Given the description of an element on the screen output the (x, y) to click on. 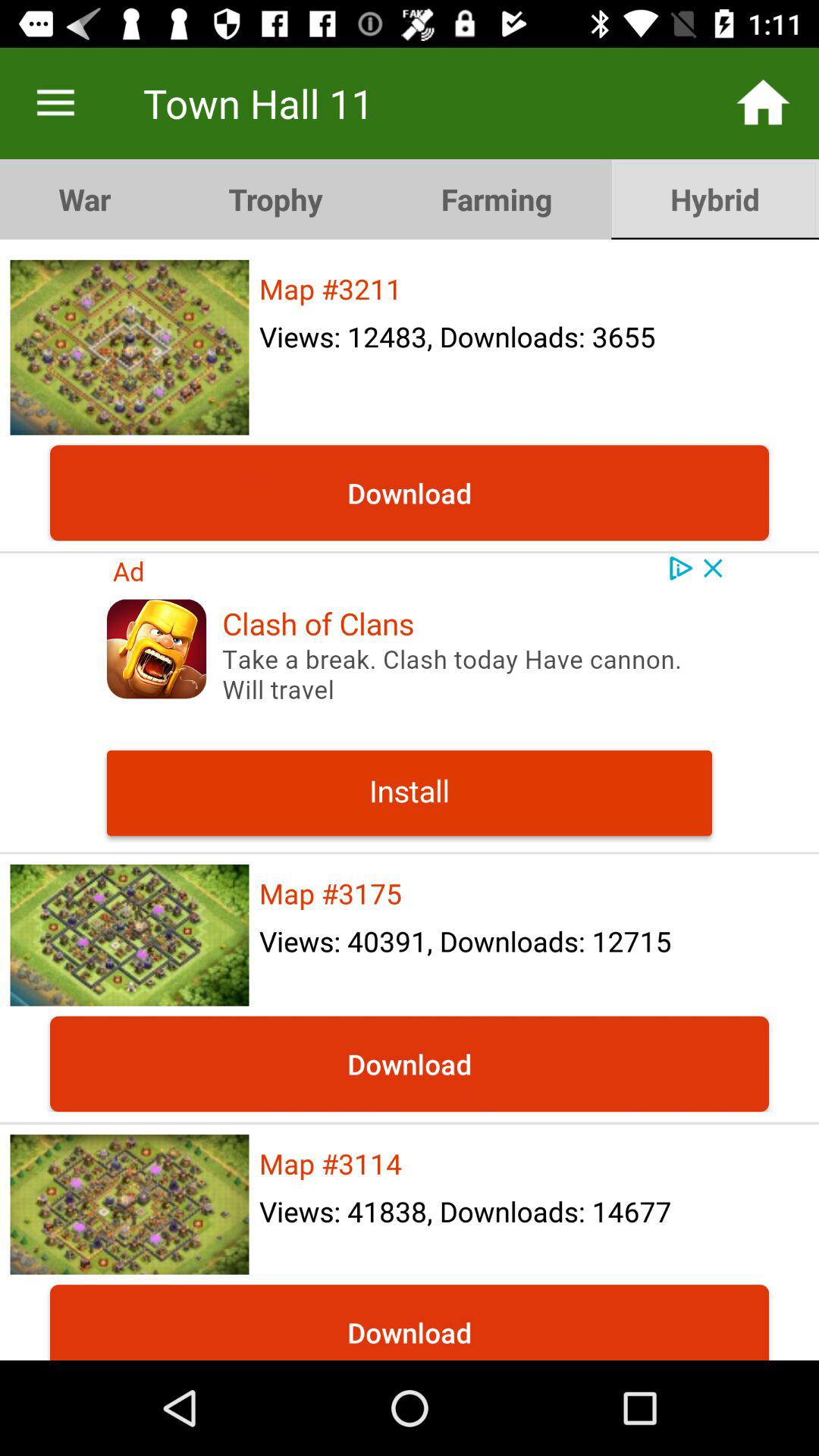
go to install clash of clans advertisement (409, 702)
